Given the description of an element on the screen output the (x, y) to click on. 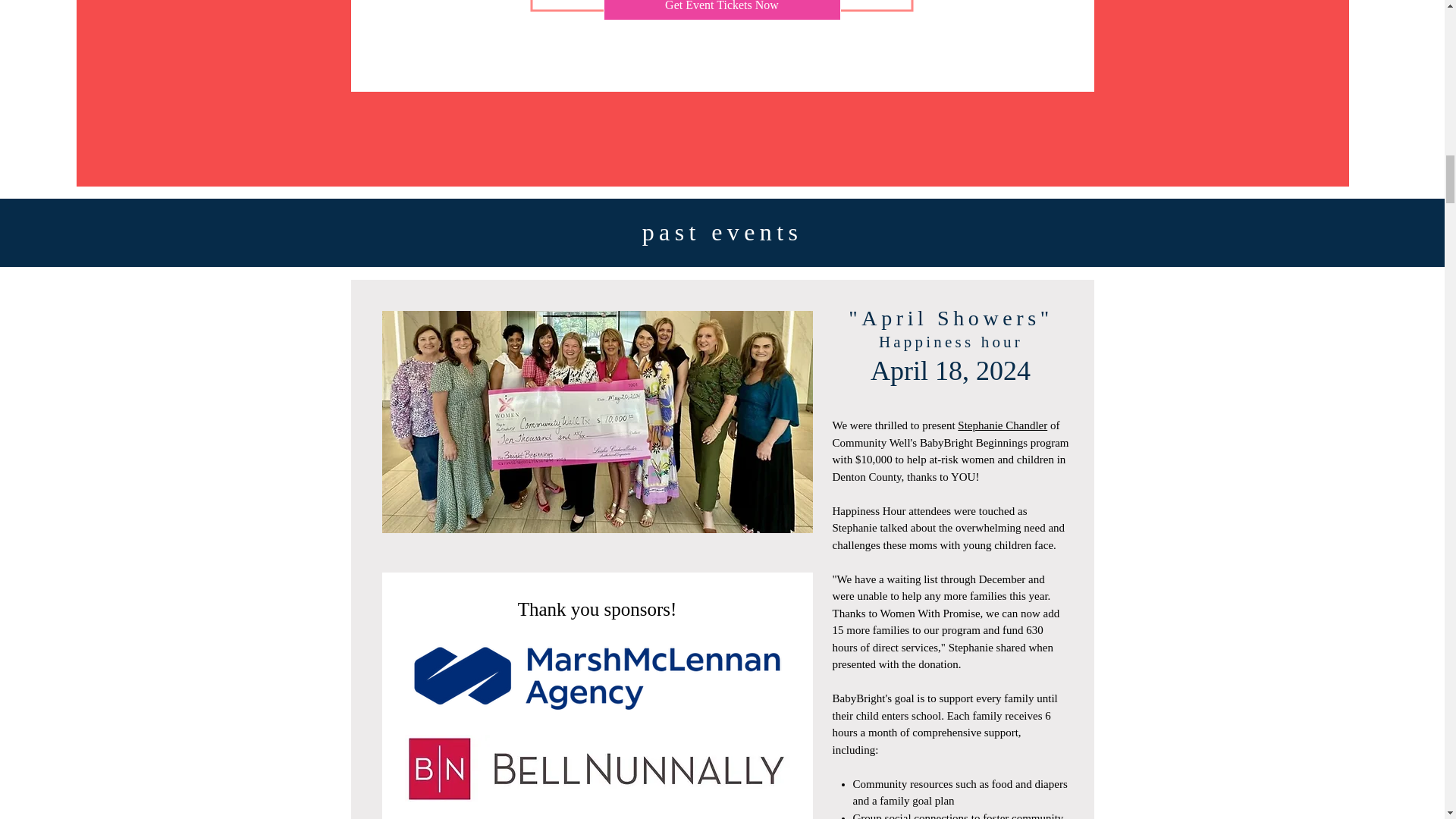
Stephanie Chandler (1002, 425)
BellNunnally logo.jpg (597, 767)
Get Event Tickets Now (722, 10)
Marsh McLennan Agency WWP Sponsor (597, 680)
